Given the description of an element on the screen output the (x, y) to click on. 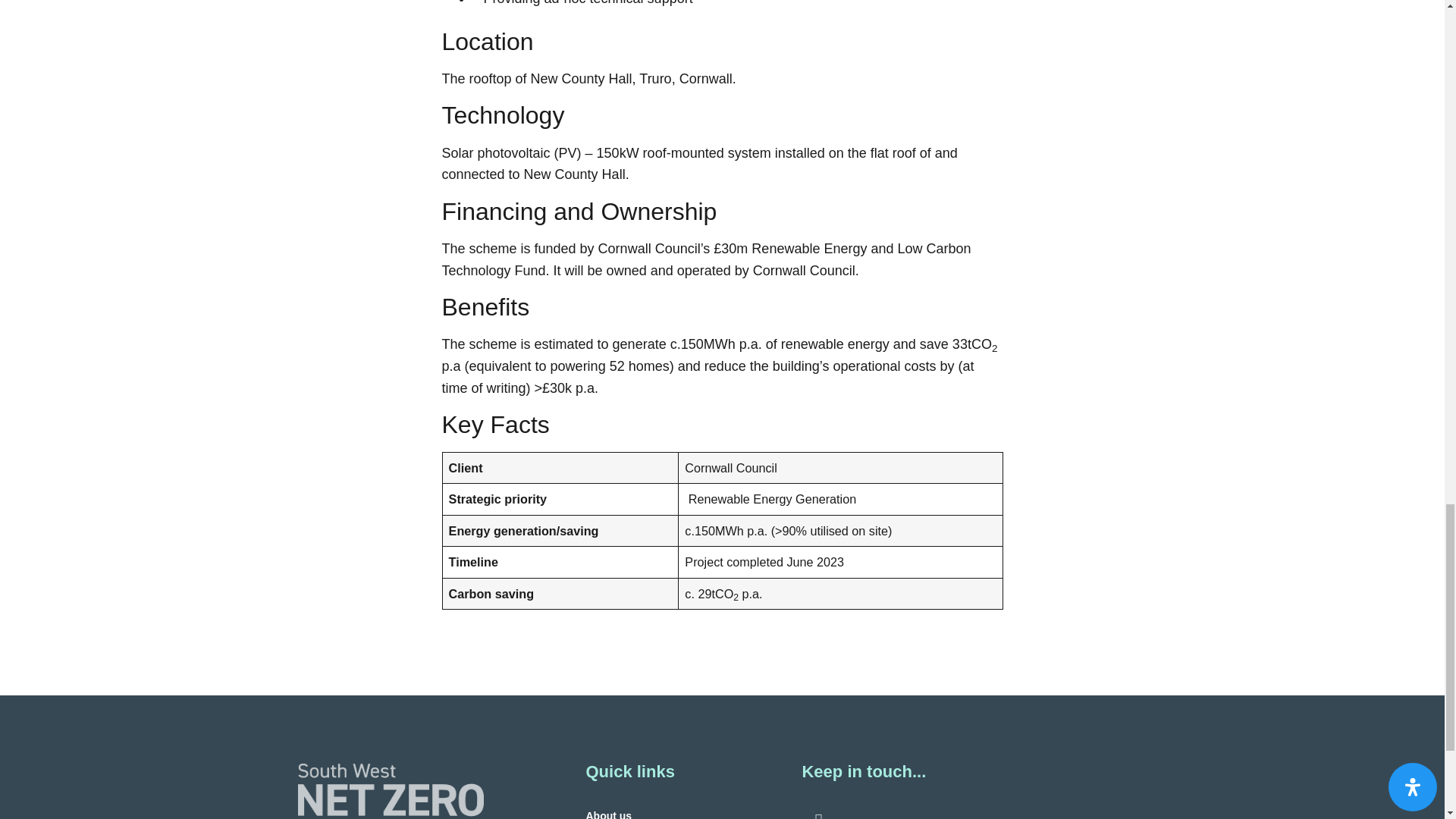
Visit our LinkedIn page (818, 814)
Visit our homepage (390, 791)
